Given the description of an element on the screen output the (x, y) to click on. 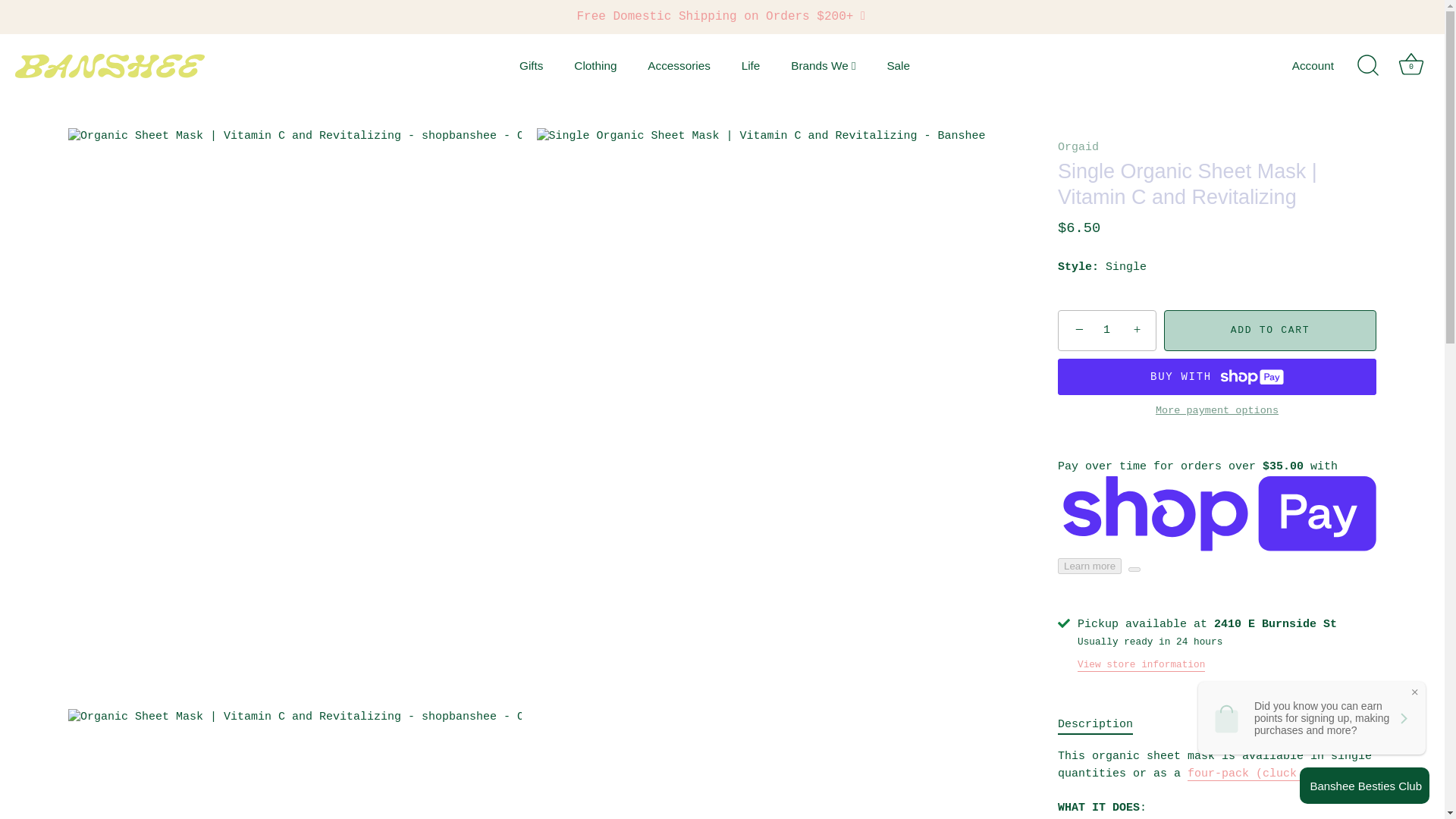
Accessories (678, 65)
LoyaltyLion beacon (1364, 785)
Gifts (531, 65)
Life (749, 65)
Basket (1410, 63)
Clothing (595, 65)
